Given the description of an element on the screen output the (x, y) to click on. 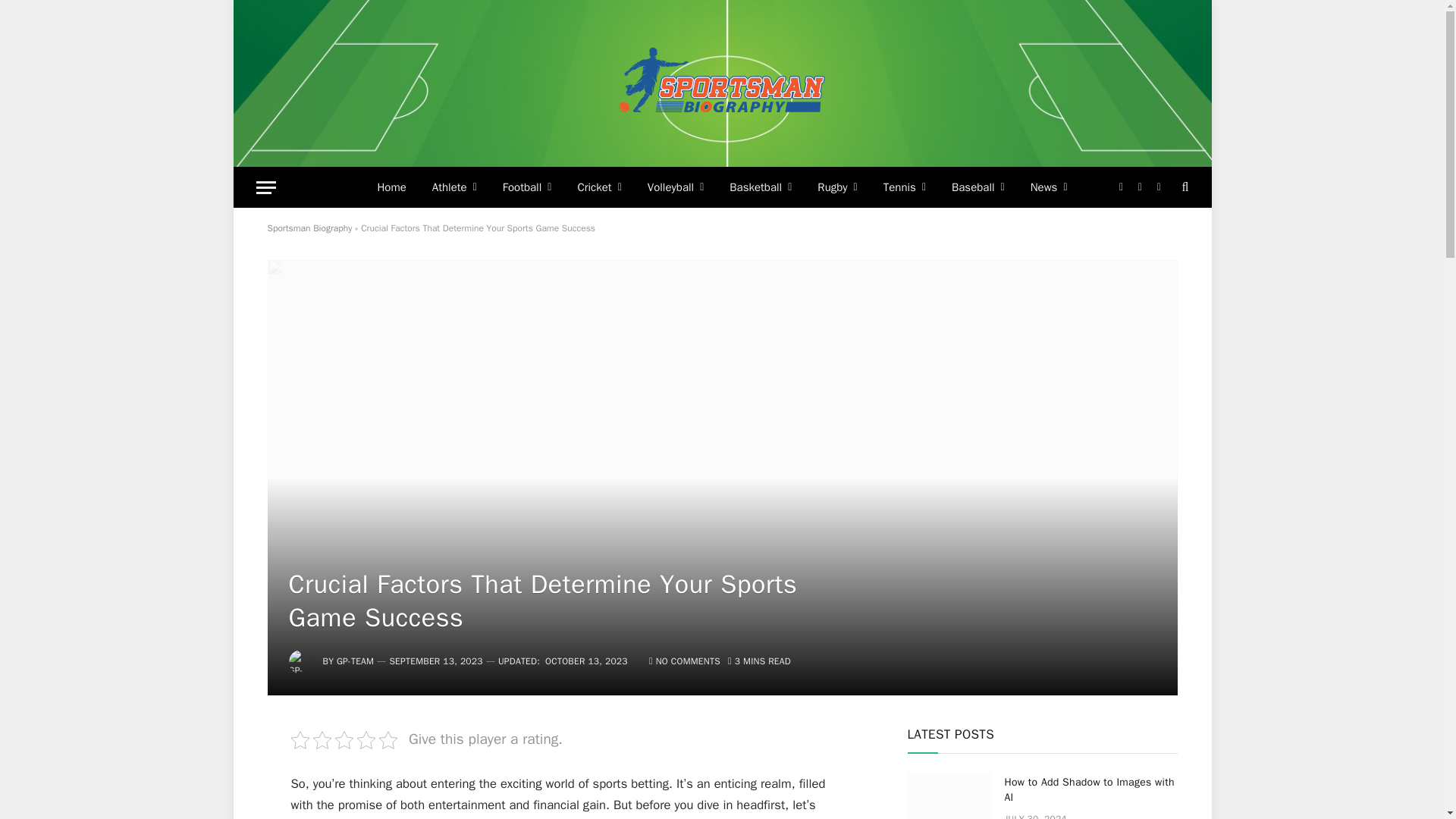
Home (391, 187)
Athlete (454, 187)
Sportsman Biography (721, 82)
